Given the description of an element on the screen output the (x, y) to click on. 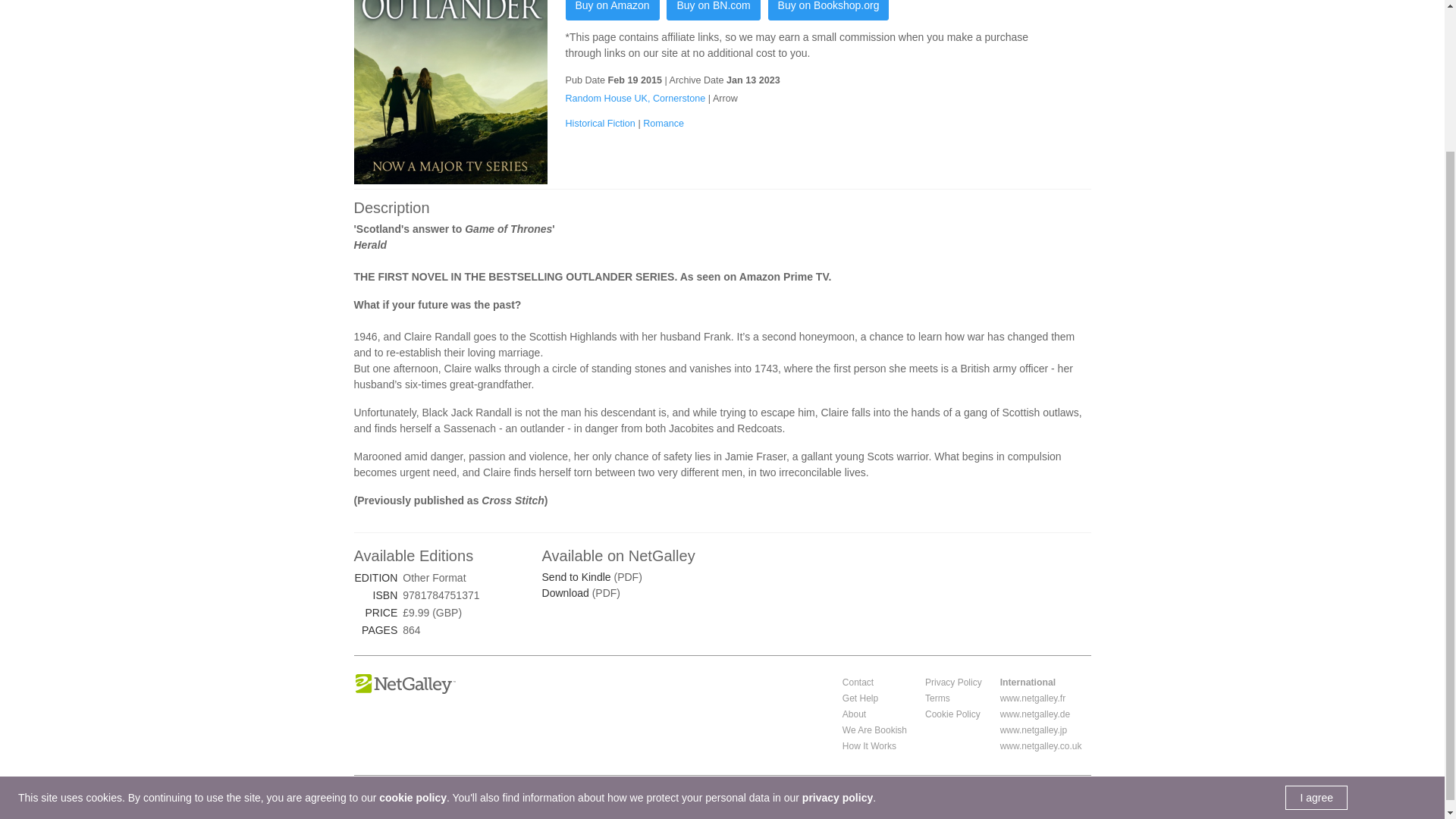
We Are Bookish (875, 729)
Buy on BN.com (713, 10)
Contact (858, 682)
Historical Fiction (602, 122)
About (854, 714)
Get Help (860, 697)
Buy on Bookshop.org (828, 10)
Buy on Amazon (612, 10)
Romance (663, 122)
